Given the description of an element on the screen output the (x, y) to click on. 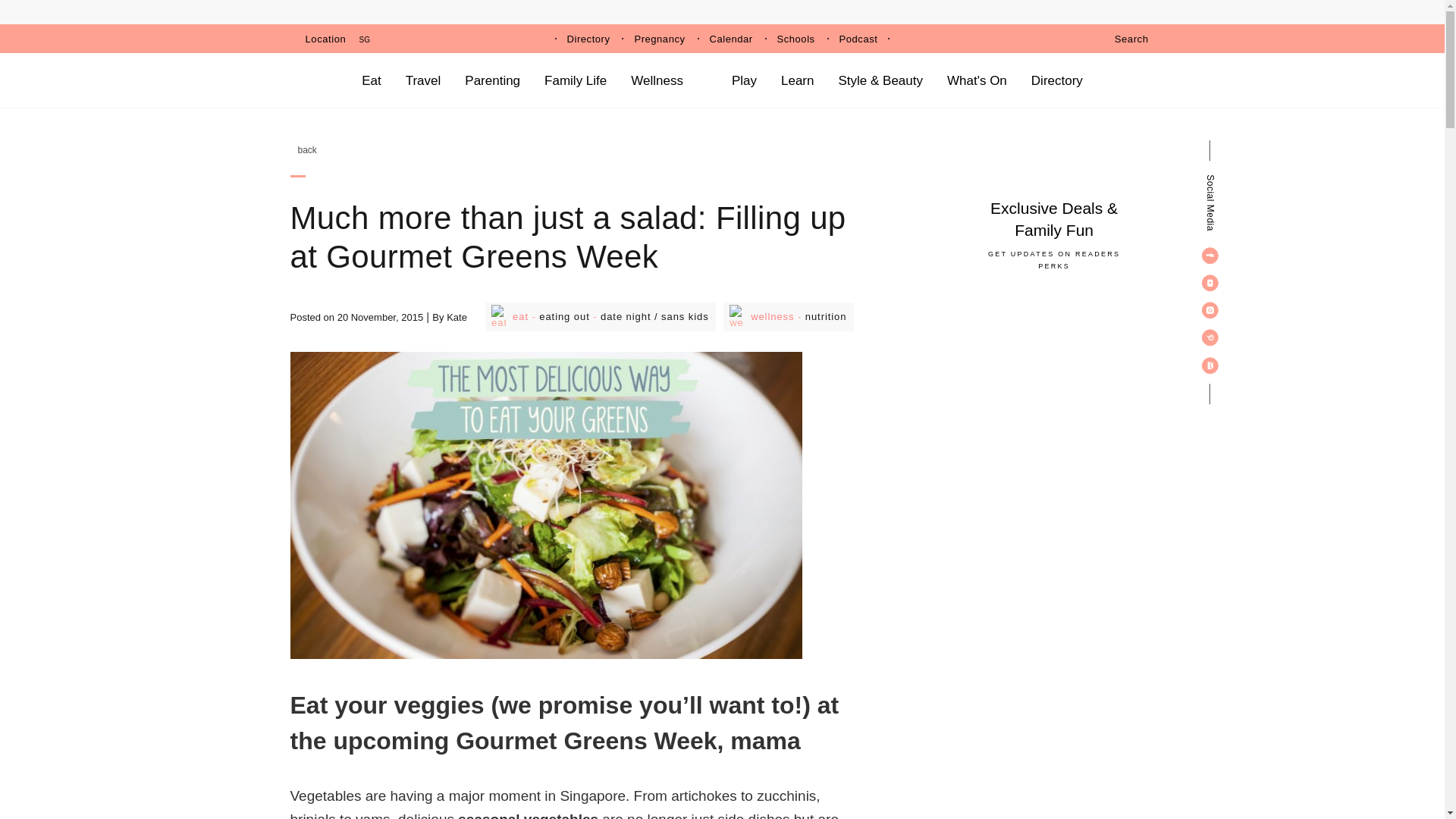
Sassy Mama Facebook Page (1209, 255)
Sassy Mama Instagram (1209, 309)
Parenting (491, 80)
Travel (423, 80)
Sassy Mama Youtube (1209, 282)
Podcast (858, 39)
Calendar (731, 39)
Directory (588, 39)
Eat (498, 316)
Pregnancy (658, 39)
Sassy Mama Pinterest (1209, 337)
Schools (796, 39)
Eat (371, 80)
